Given the description of an element on the screen output the (x, y) to click on. 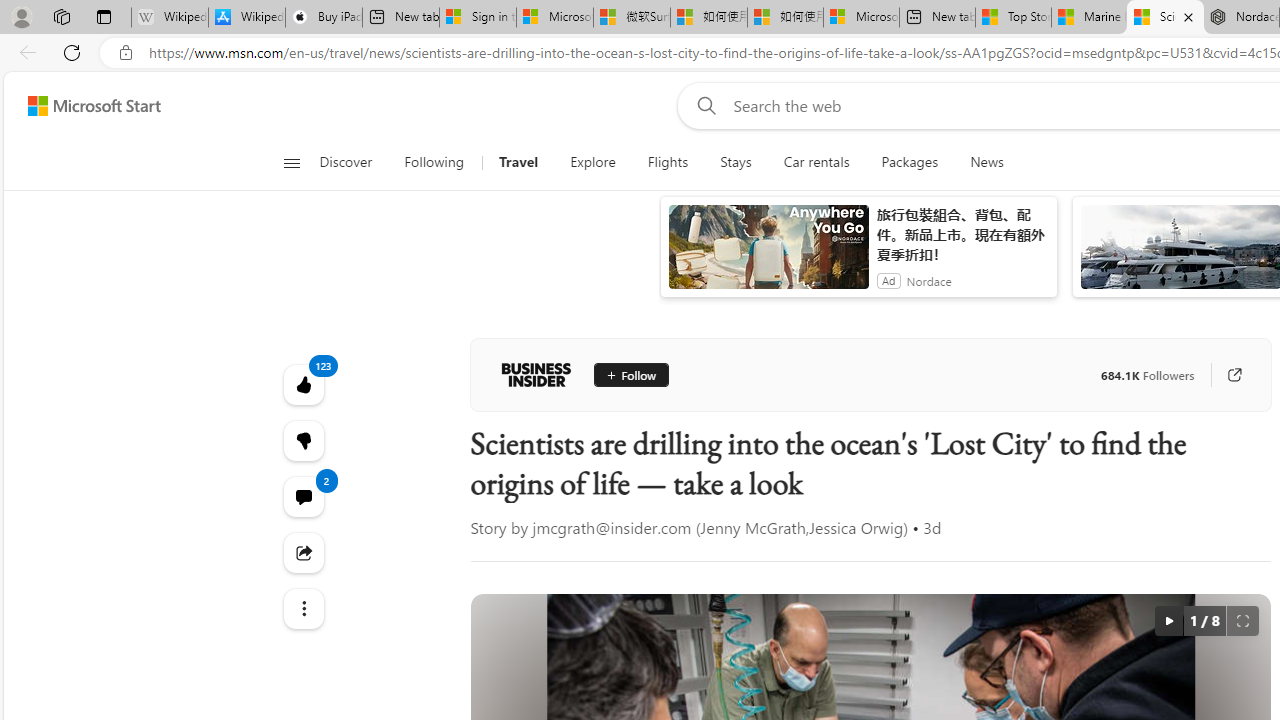
Skip to footer (82, 105)
Explore (593, 162)
View comments 2 Comment (302, 496)
Microsoft account | Account Checkup (861, 17)
Business Insider (536, 374)
Stays (735, 162)
autorotate button (1168, 620)
Skip to content (86, 105)
Buy iPad - Apple (323, 17)
Following (433, 162)
